Given the description of an element on the screen output the (x, y) to click on. 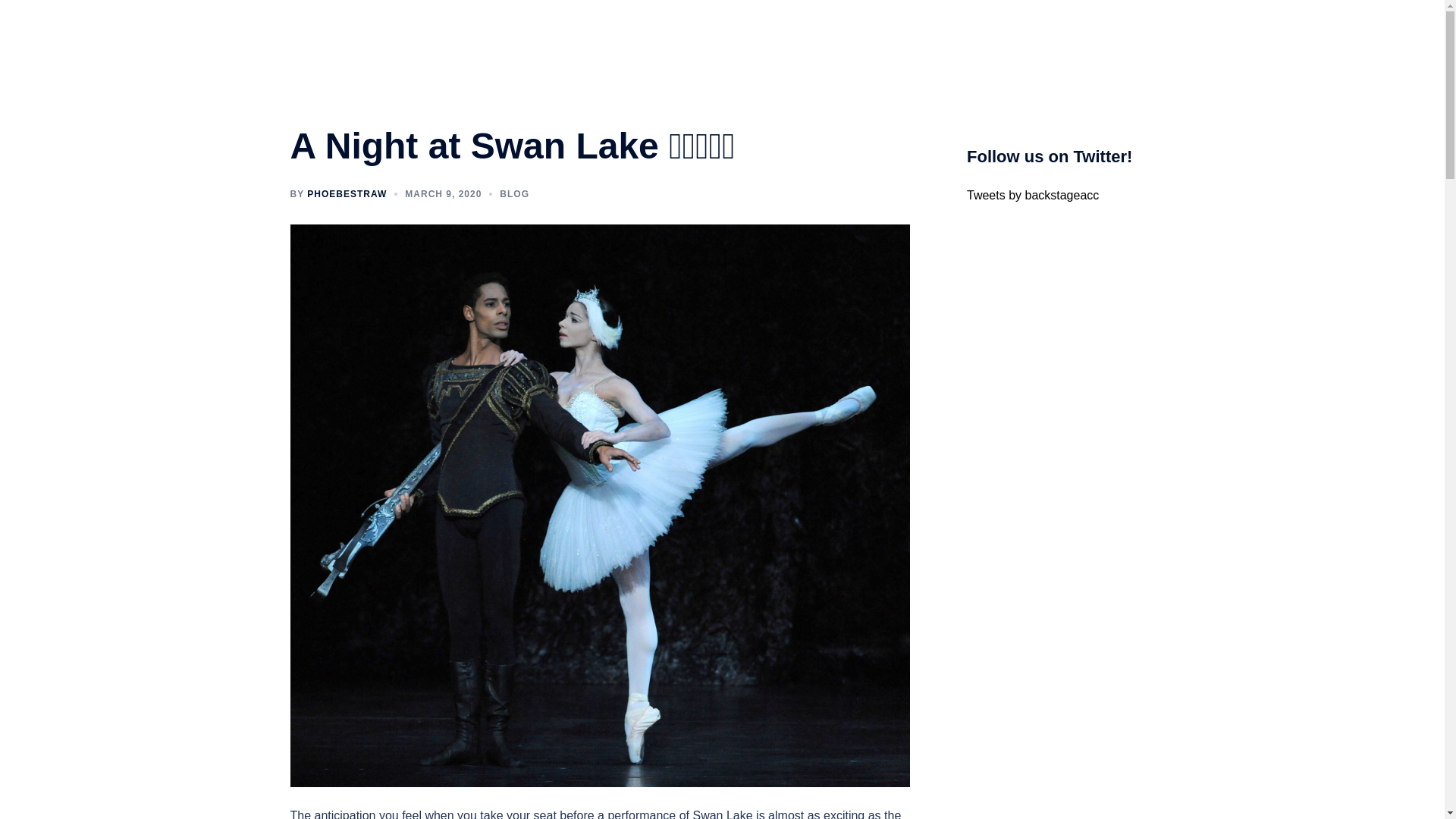
PHOEBESTRAW (347, 194)
CitiesandSunsets (924, 31)
Tweets by backstageacc (1032, 195)
About (805, 31)
Travel (1053, 31)
MARCH 9, 2020 (442, 194)
Blog (851, 31)
BLOG (514, 194)
BackStageAccess (314, 29)
Contact Me (1116, 31)
Dating (1002, 31)
